Given the description of an element on the screen output the (x, y) to click on. 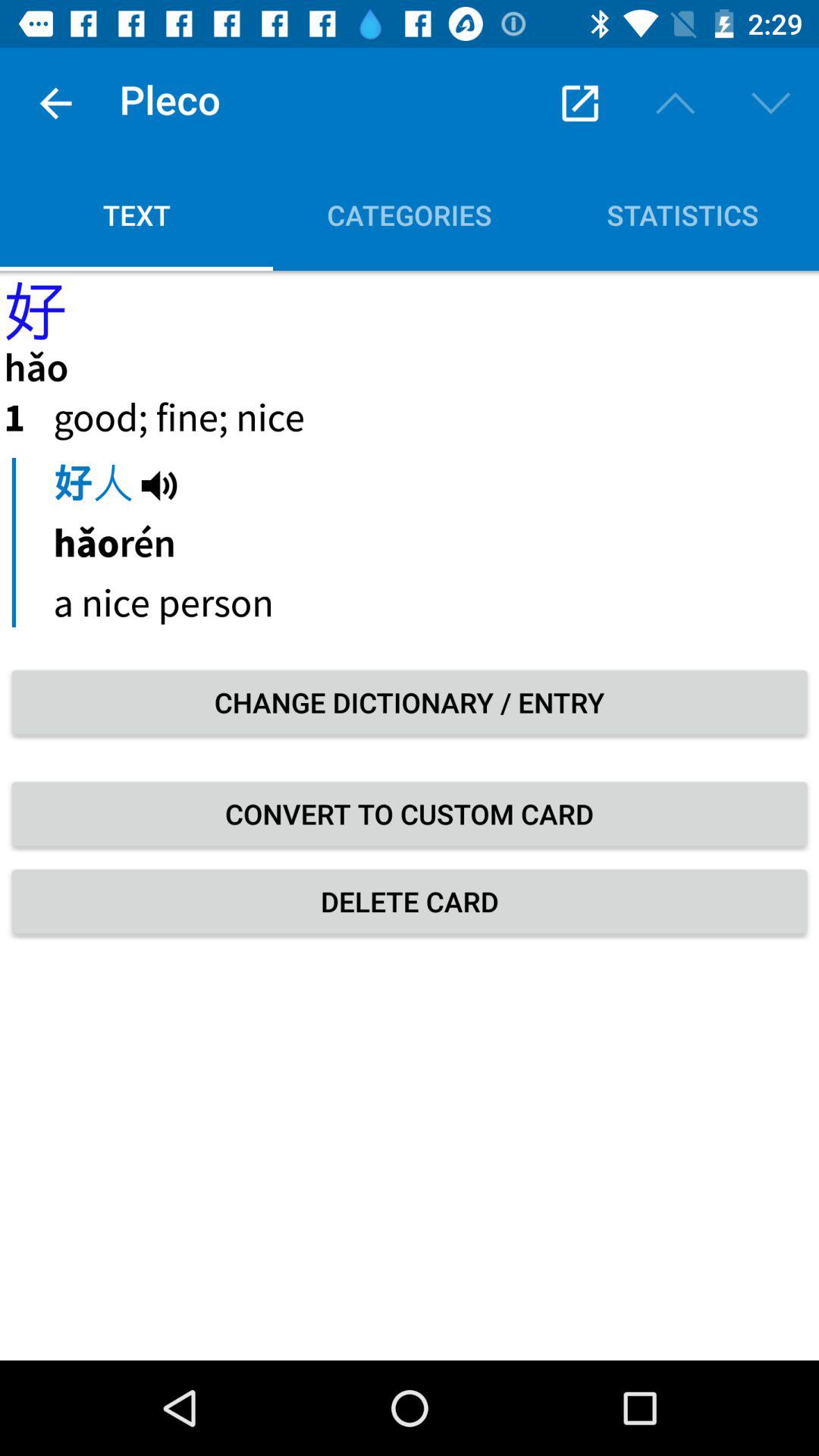
press the change dictionary / entry (409, 702)
